Given the description of an element on the screen output the (x, y) to click on. 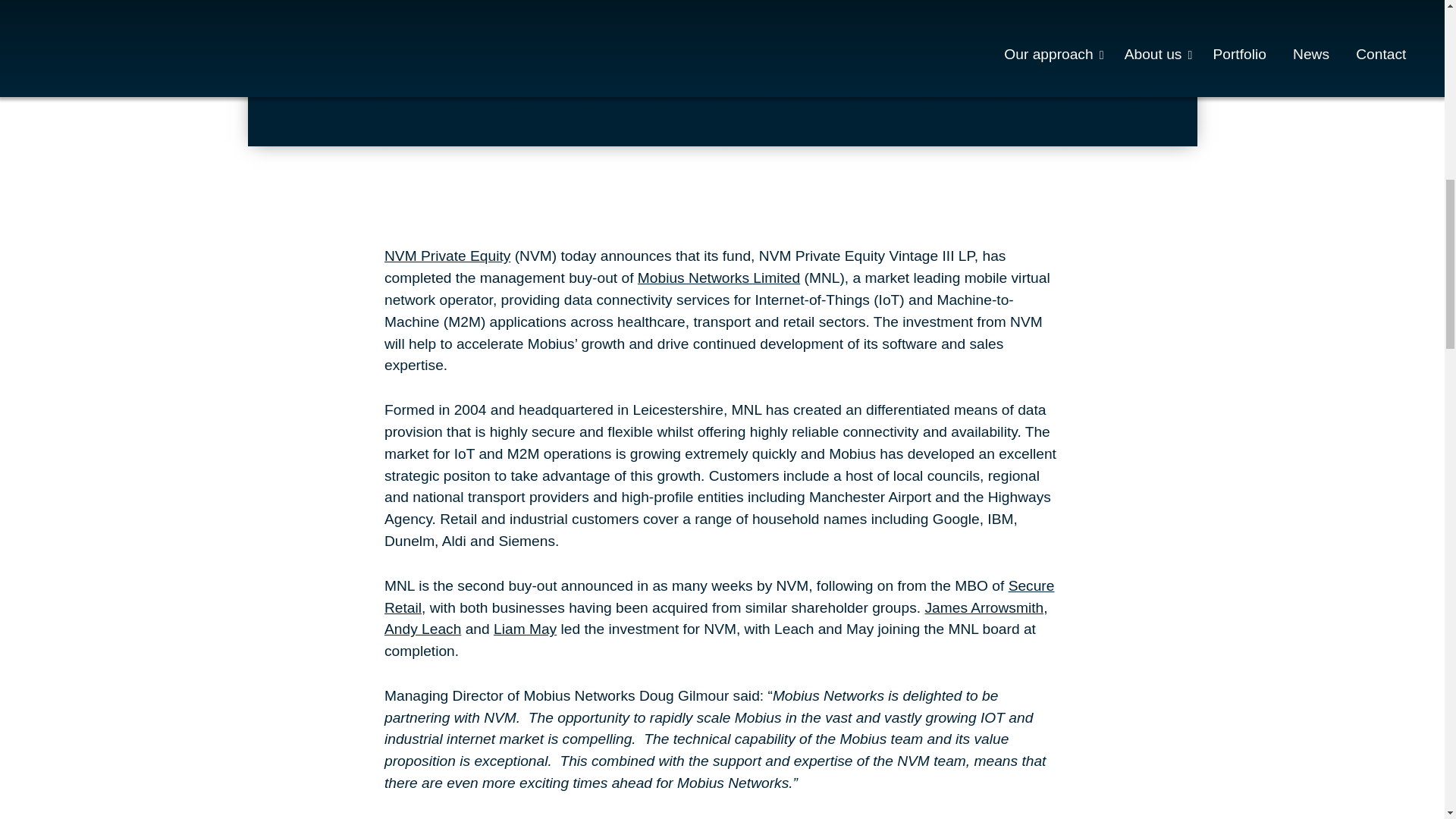
Liam May (524, 628)
James Arrowsmith (983, 606)
NVM Private Equity (447, 255)
Andy Leach (422, 628)
Mobius Networks Limited (718, 277)
Secure Retail (719, 596)
